Given the description of an element on the screen output the (x, y) to click on. 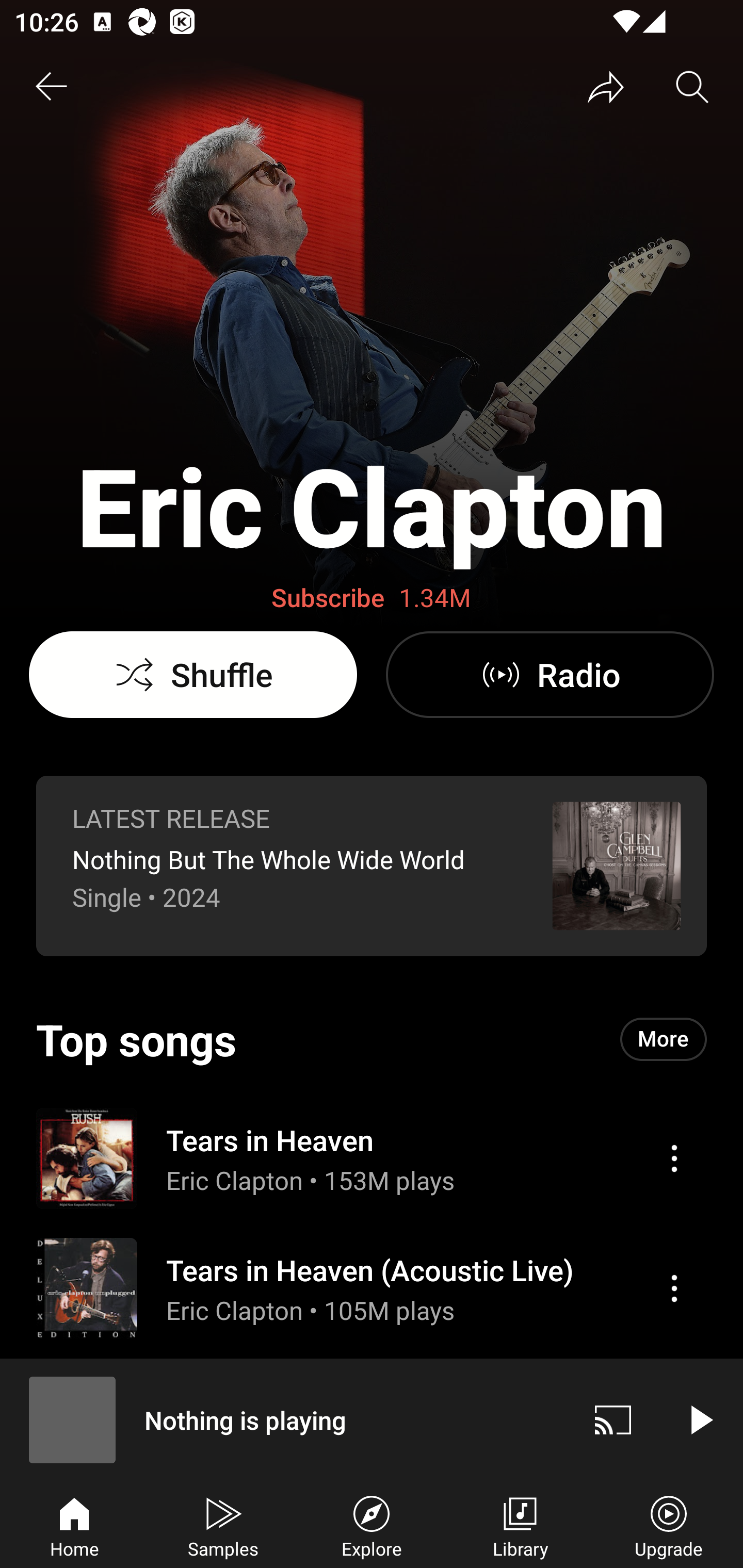
Back (50, 86)
Share (605, 86)
Search (692, 86)
Subscribe 1.34M (371, 598)
Shuffle (192, 674)
Radio (549, 674)
Action menu (371, 1157)
Action menu (673, 1158)
Action menu (371, 1288)
Action menu (673, 1288)
Nothing is playing (284, 1419)
Cast. Disconnected (612, 1419)
Play video (699, 1419)
Home (74, 1524)
Samples (222, 1524)
Explore (371, 1524)
Library (519, 1524)
Upgrade (668, 1524)
